Given the description of an element on the screen output the (x, y) to click on. 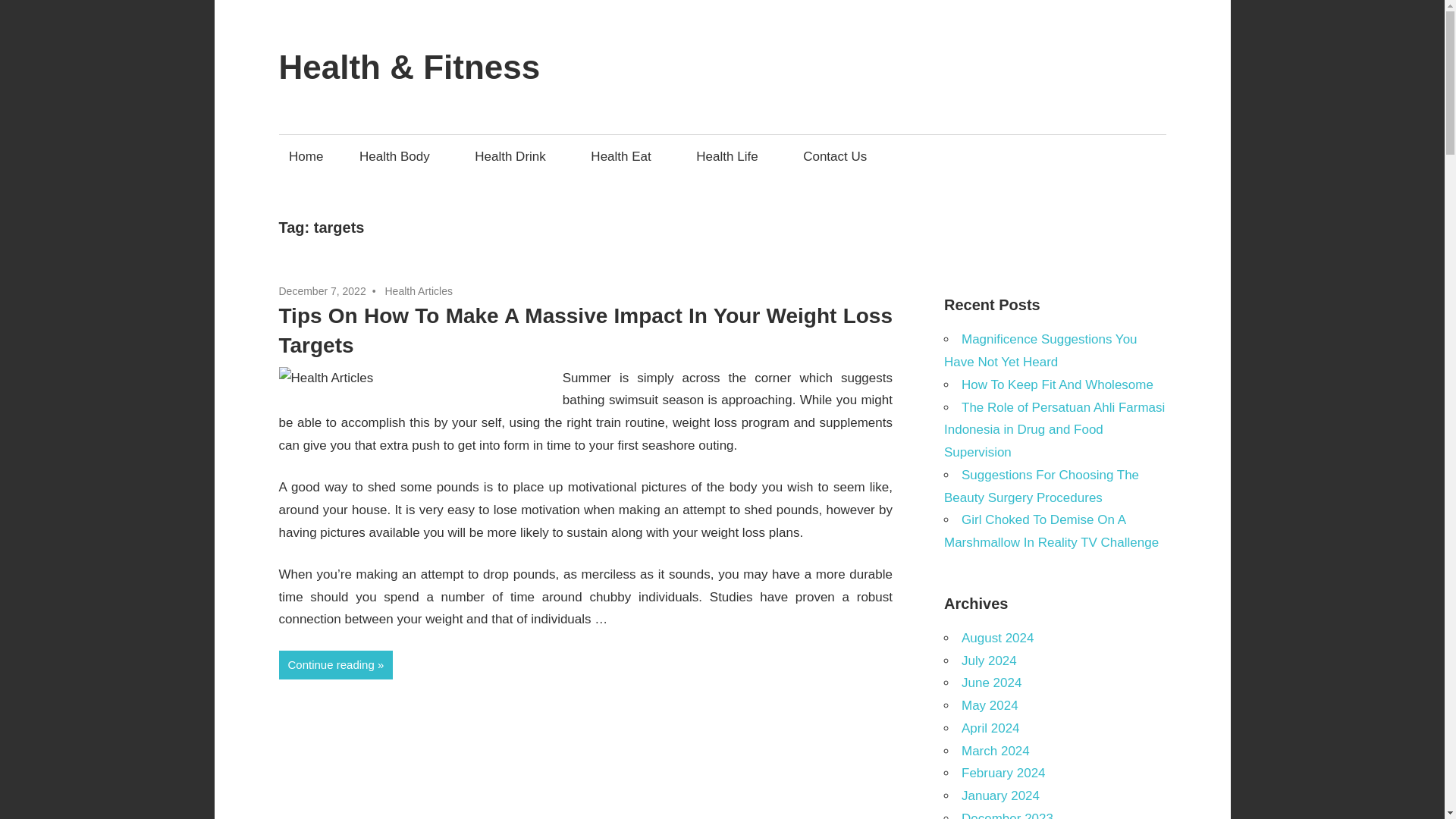
Home (306, 156)
Contact Us (835, 156)
Health Eat (625, 156)
Health Drink (515, 156)
December 7, 2022 (322, 291)
Magnificence Suggestions You Have Not Yet Heard (1040, 350)
4:41 pm (322, 291)
Health Body (398, 156)
Health Life (731, 156)
